Given the description of an element on the screen output the (x, y) to click on. 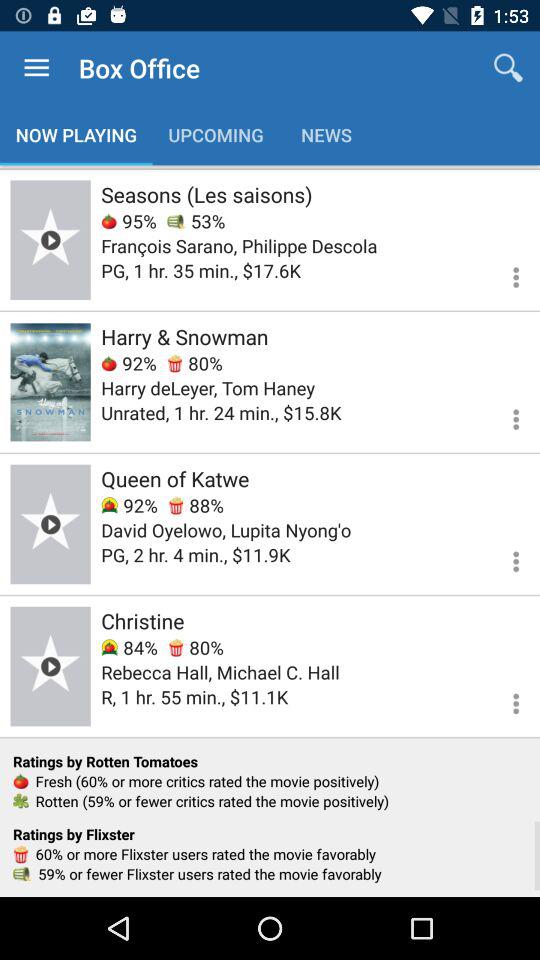
more info (503, 558)
